Given the description of an element on the screen output the (x, y) to click on. 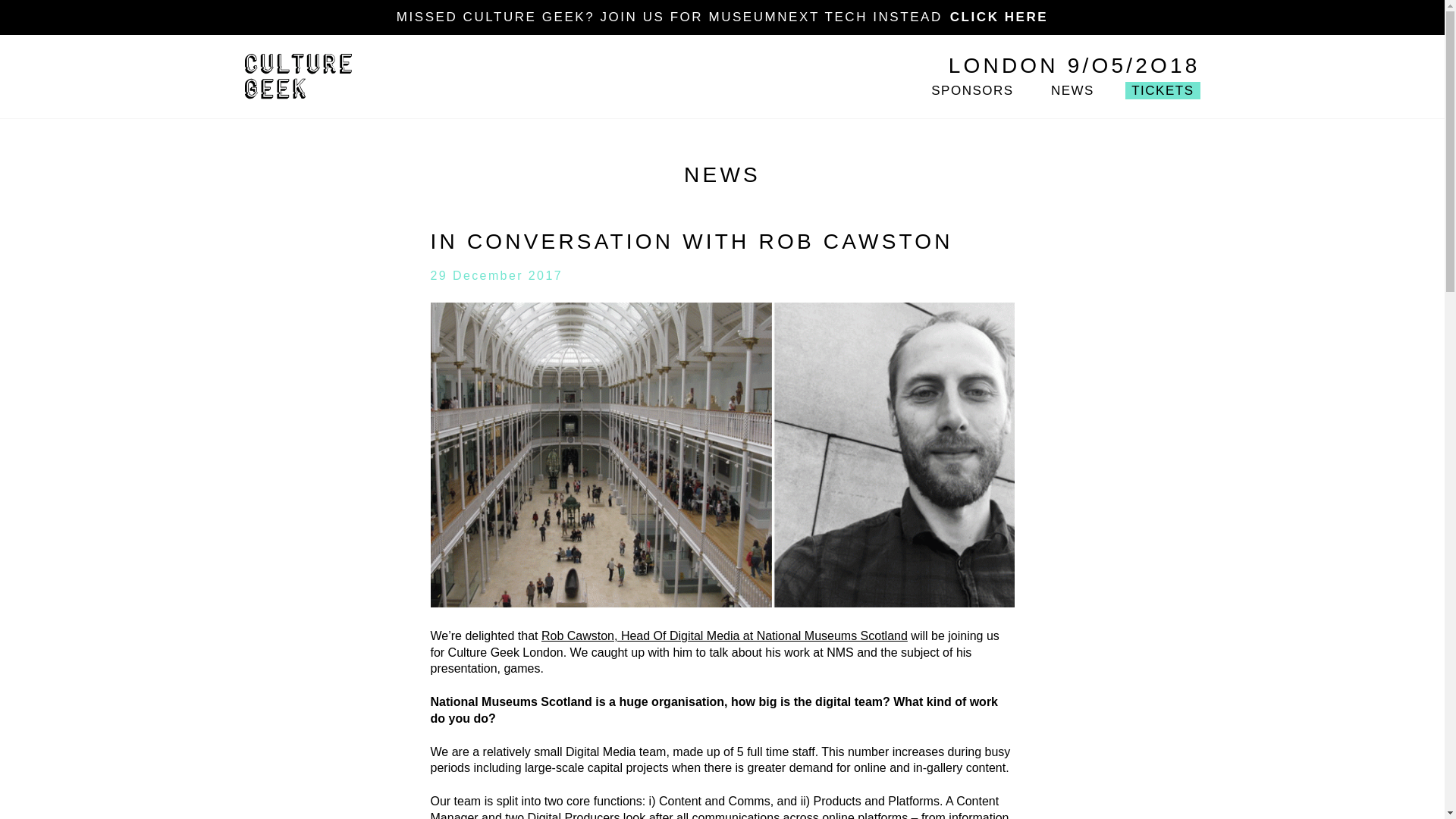
NEWS (1072, 90)
SPONSORS (971, 90)
TICKETS (1162, 90)
